Given the description of an element on the screen output the (x, y) to click on. 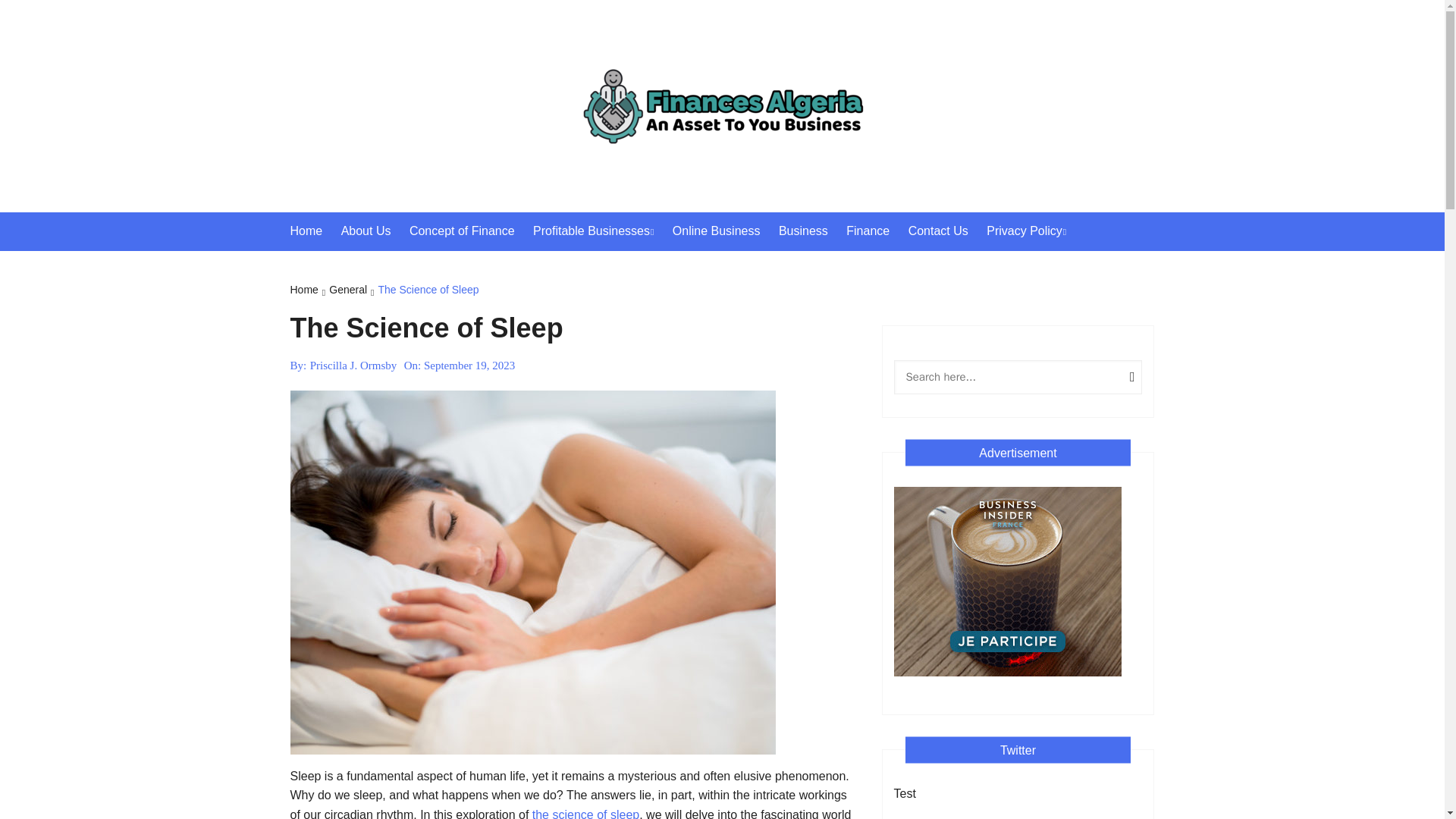
Priscilla J. Ormsby (353, 365)
Real Estate (627, 267)
Test (904, 793)
Terms of Use (1081, 267)
Home (309, 291)
Profitable Businesses (600, 231)
About Us (373, 231)
the science of sleep (585, 813)
Business (810, 231)
Contact Us (946, 231)
September 19, 2023 (469, 365)
Concept of Finance (469, 231)
Online Business (724, 231)
General (353, 291)
Privacy Policy (1034, 231)
